Given the description of an element on the screen output the (x, y) to click on. 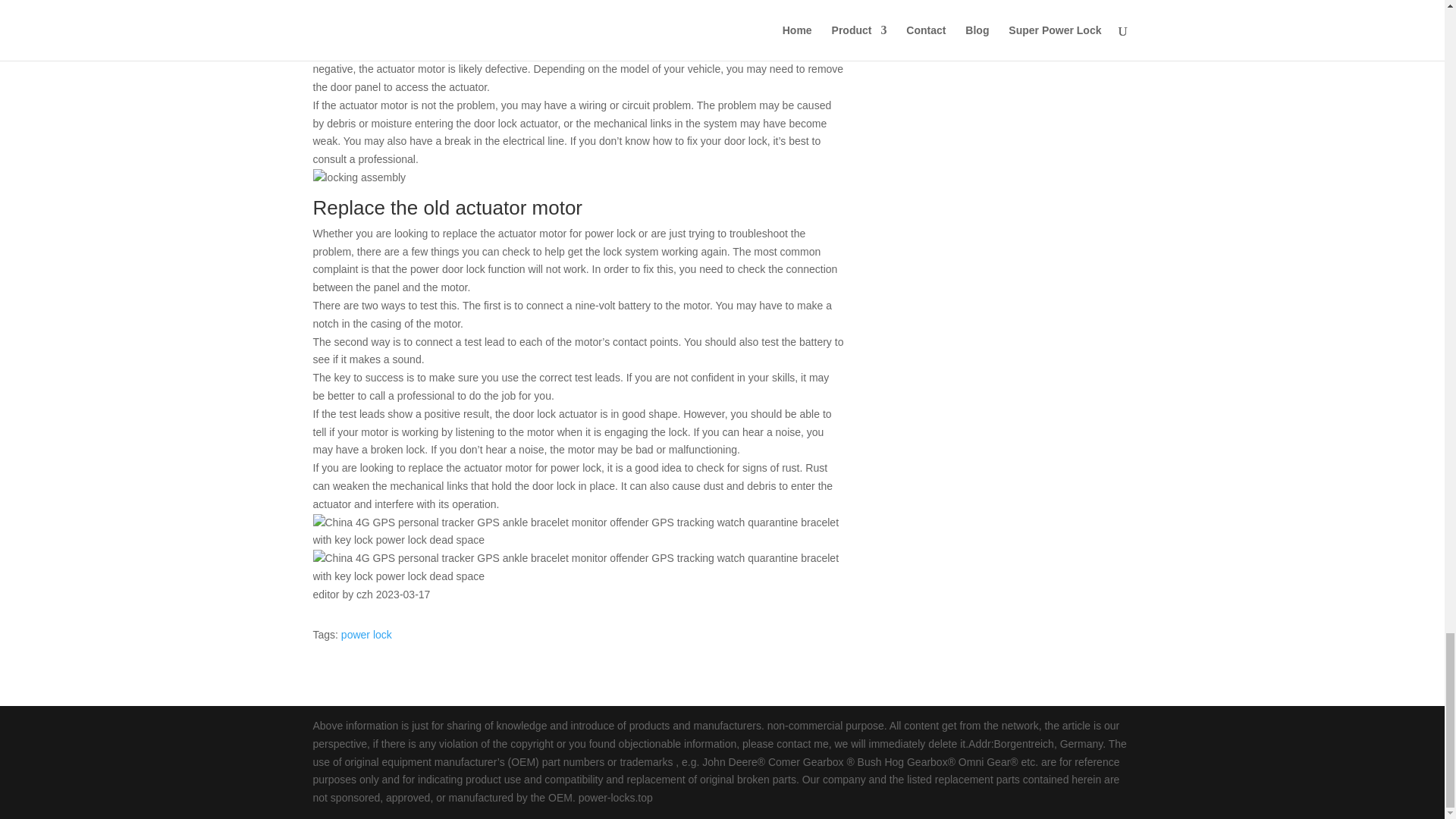
power lock (365, 634)
